Given the description of an element on the screen output the (x, y) to click on. 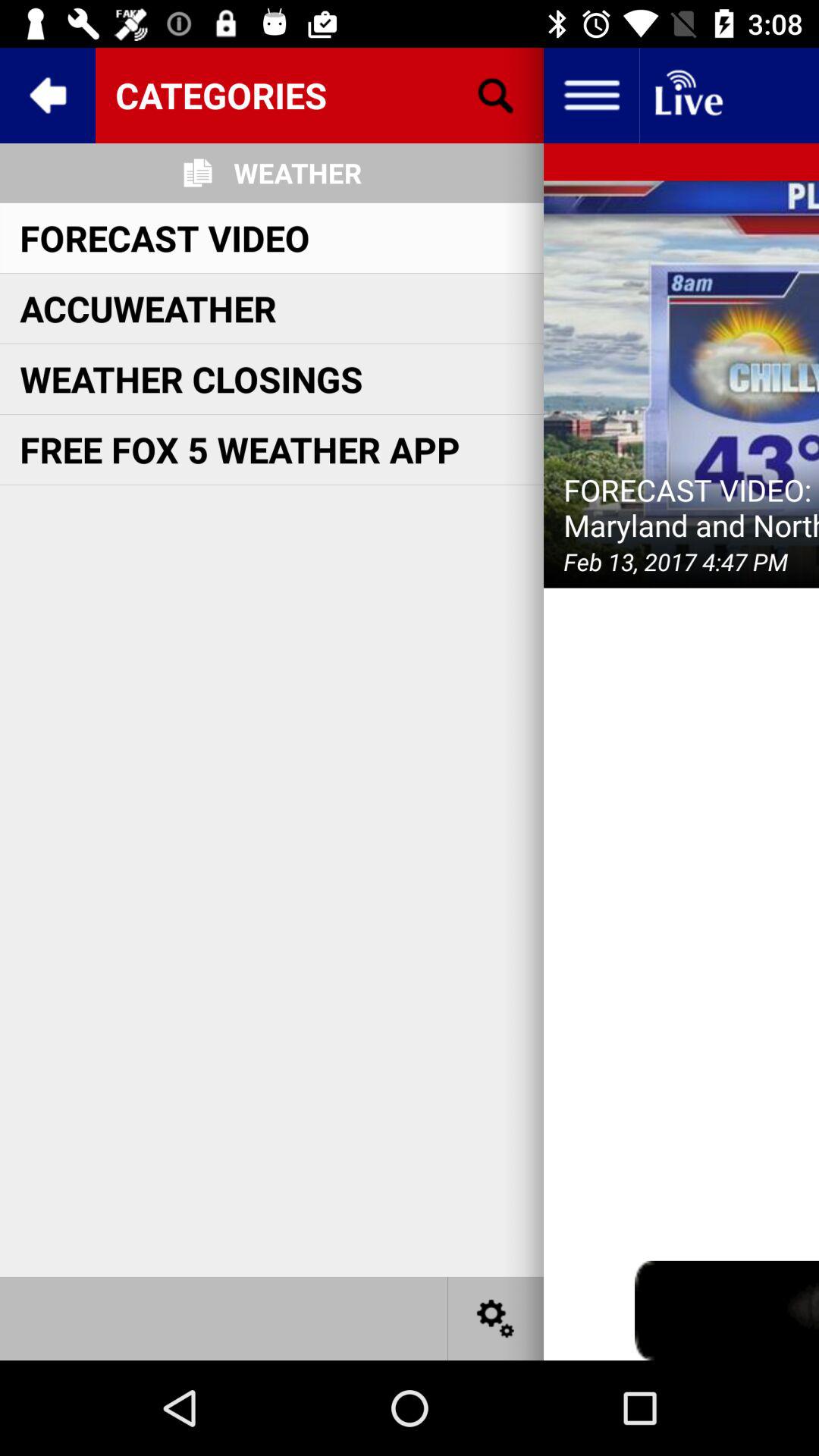
flip to the weather closings item (190, 378)
